Given the description of an element on the screen output the (x, y) to click on. 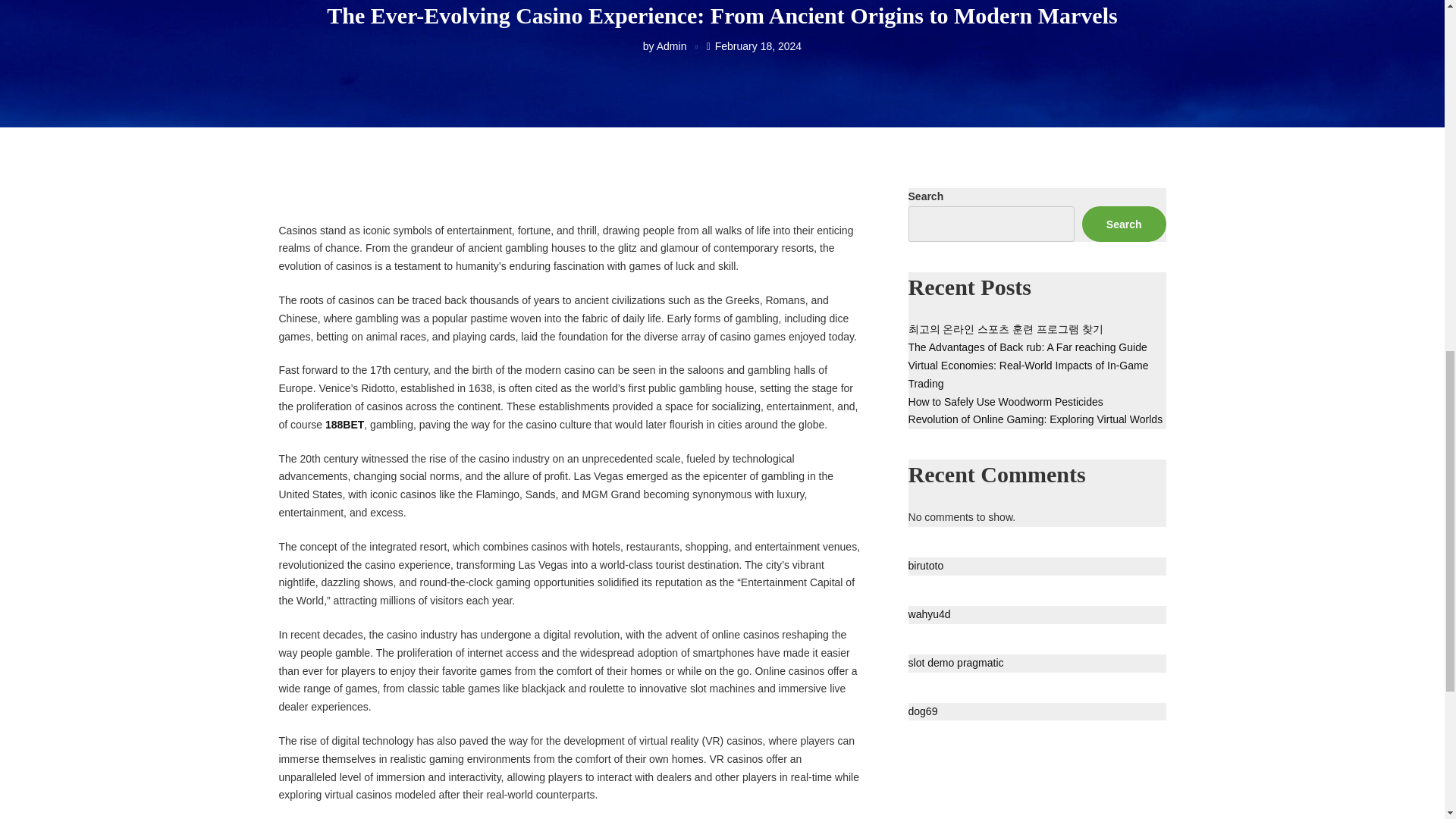
Admin (671, 46)
February 18, 2024 (758, 46)
How to Safely Use Woodworm Pesticides (1005, 401)
Search (1123, 224)
188BET (344, 424)
The Advantages of Back rub: A Far reaching Guide (1027, 346)
Virtual Economies: Real-World Impacts of In-Game Trading (1028, 374)
